Given the description of an element on the screen output the (x, y) to click on. 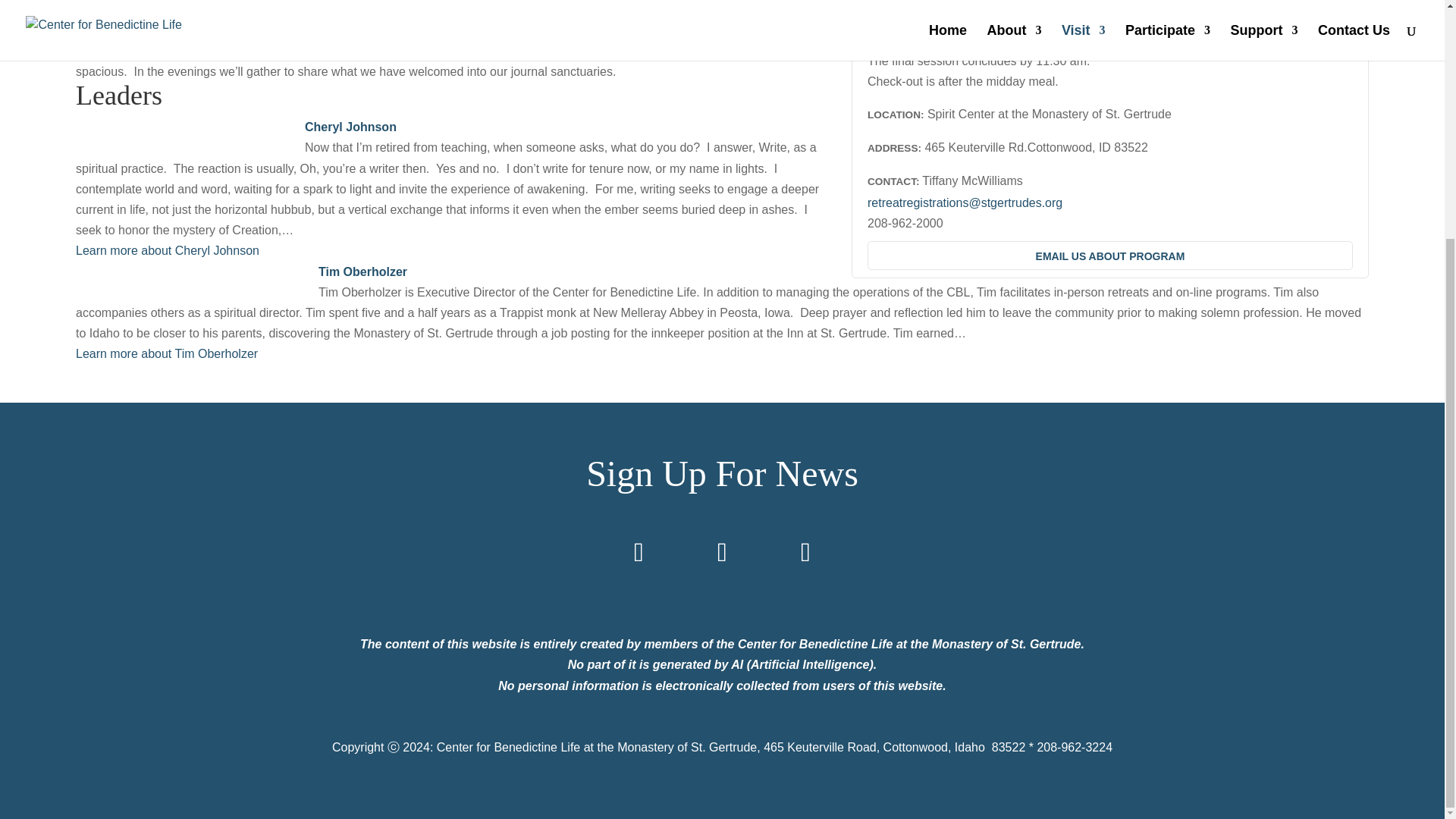
Follow on Facebook (638, 552)
Follow on Instagram (721, 552)
Follow on Youtube (805, 552)
